Given the description of an element on the screen output the (x, y) to click on. 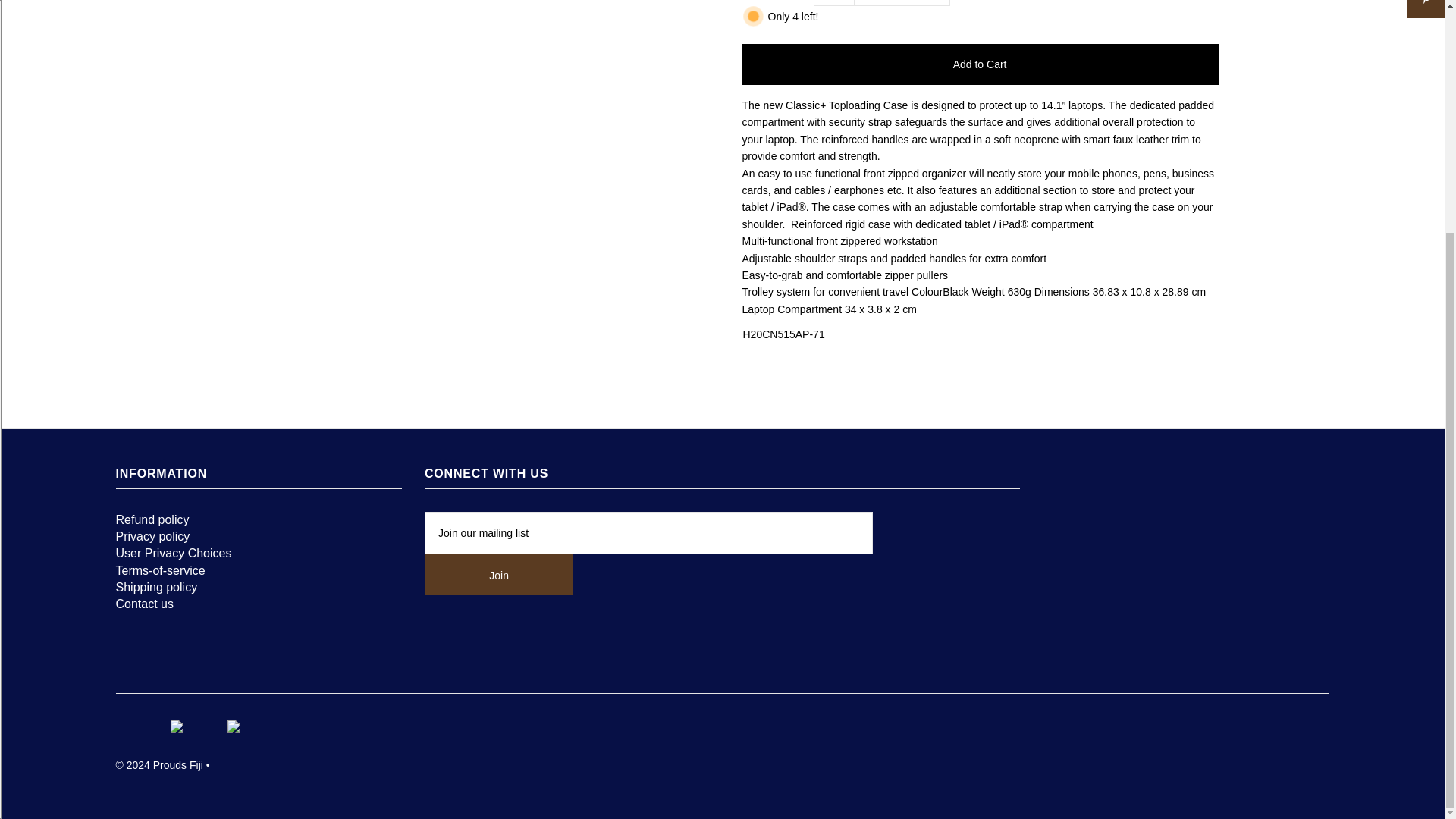
Join (499, 574)
1 (880, 2)
Add to Cart (979, 64)
